Given the description of an element on the screen output the (x, y) to click on. 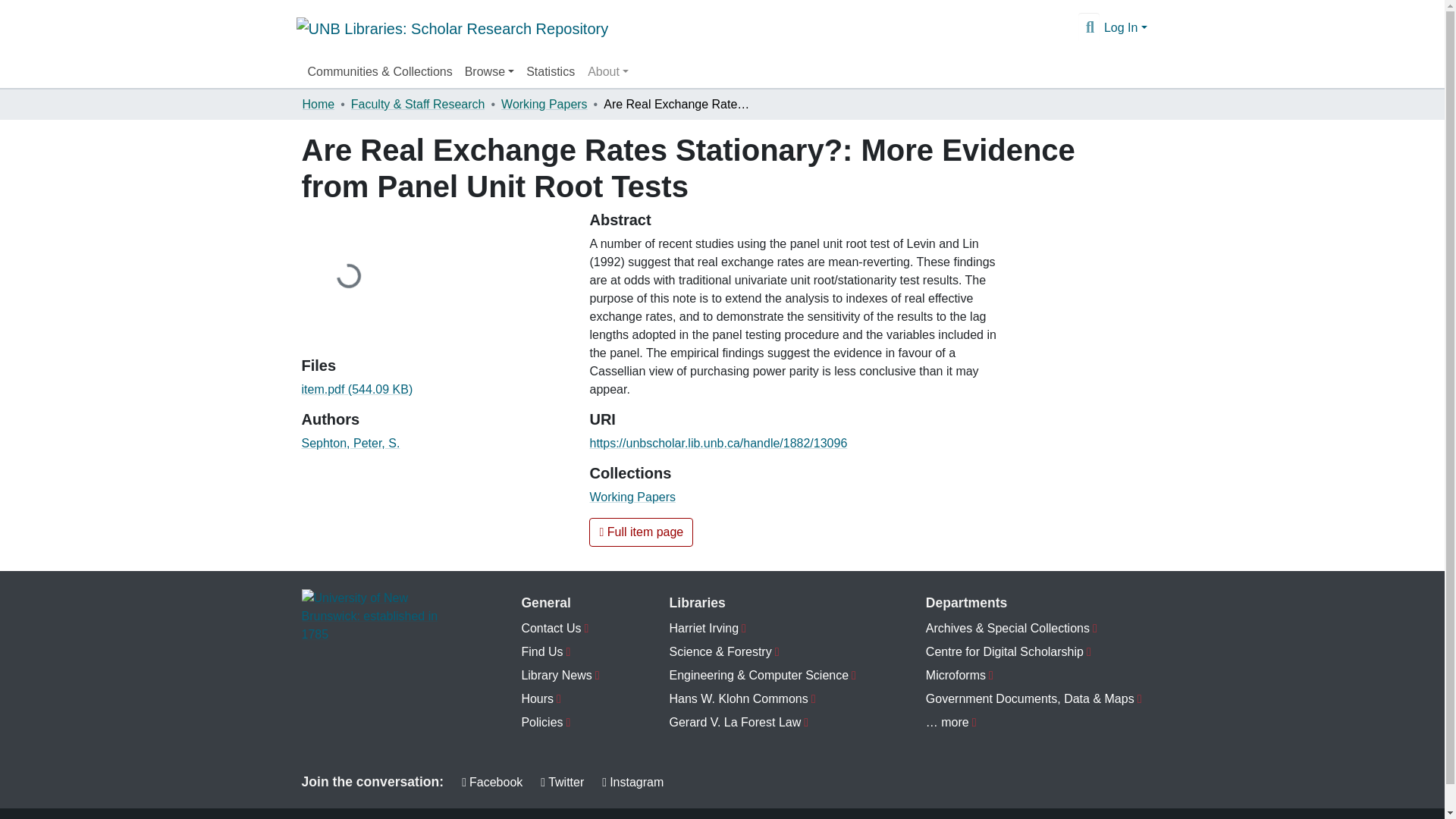
Statistics (549, 71)
Library News (560, 675)
About (607, 71)
Twitter (561, 782)
Centre for Digital Scholarship (1034, 652)
Find Us (560, 652)
Harriet Irving (763, 628)
Search (1089, 27)
Facebook (491, 782)
Home (317, 104)
